Given the description of an element on the screen output the (x, y) to click on. 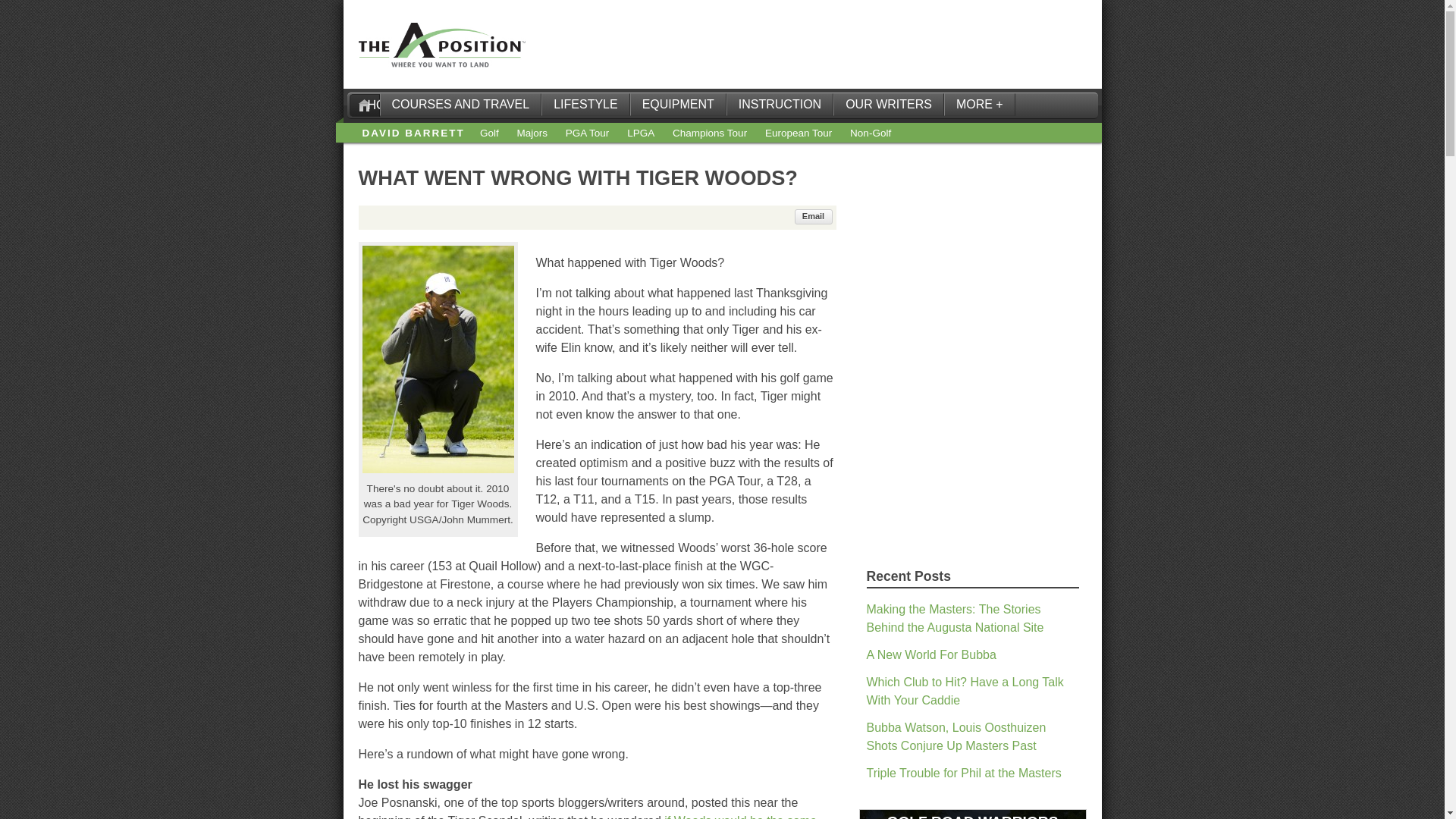
Email (813, 216)
LIFESTYLE (584, 104)
COURSES AND TRAVEL (459, 104)
HOME (363, 105)
Golf (489, 132)
LPGA (640, 132)
PGA Tour (588, 132)
DAVID BARRETT (413, 132)
EQUIPMENT (678, 104)
